Given the description of an element on the screen output the (x, y) to click on. 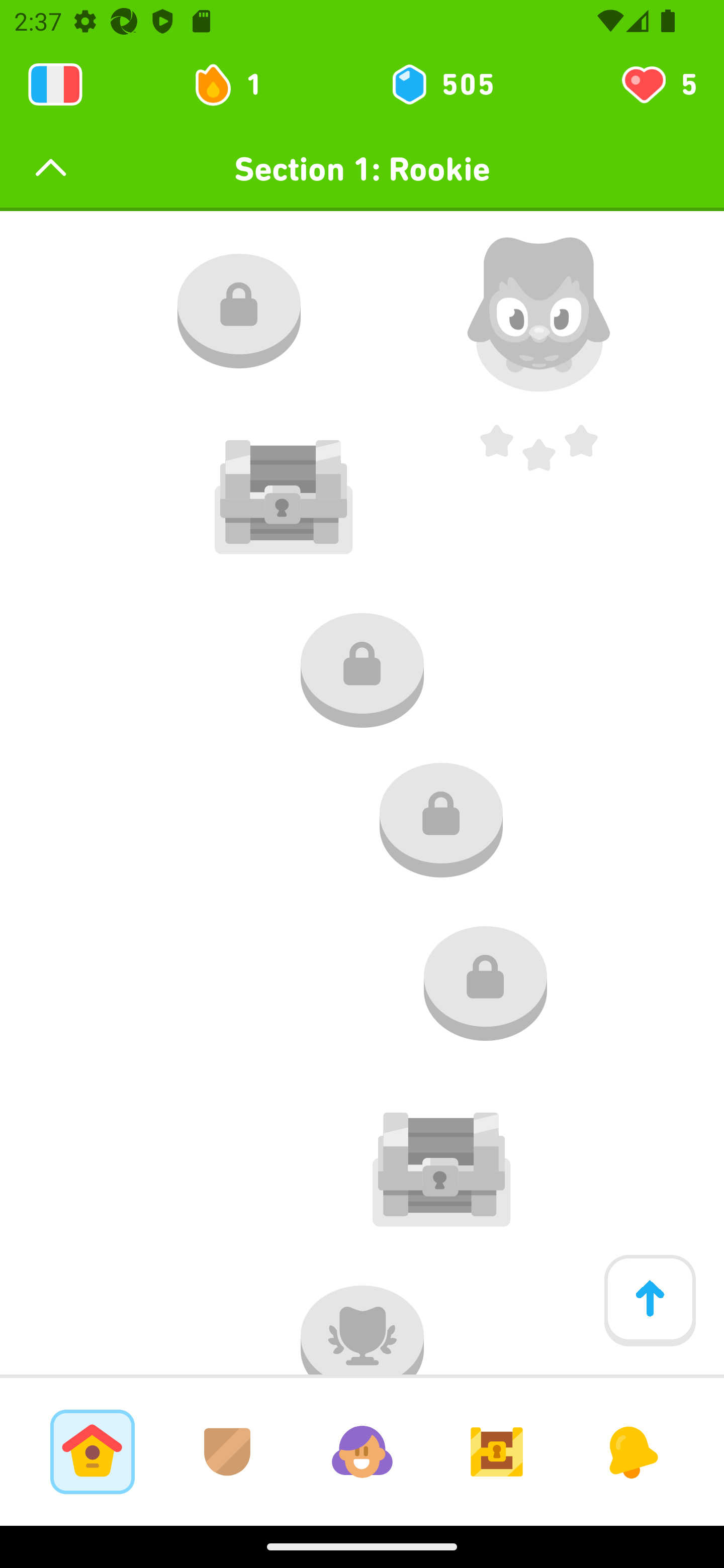
Learning 2131888976 (55, 84)
1 day streak 1 (236, 84)
505 (441, 84)
You have 5 hearts left 5 (657, 84)
Section 1: Rookie (362, 169)
Learn Tab (91, 1451)
Leagues Tab (227, 1451)
Profile Tab (361, 1451)
Goals Tab (496, 1451)
News Tab (631, 1451)
